Given the description of an element on the screen output the (x, y) to click on. 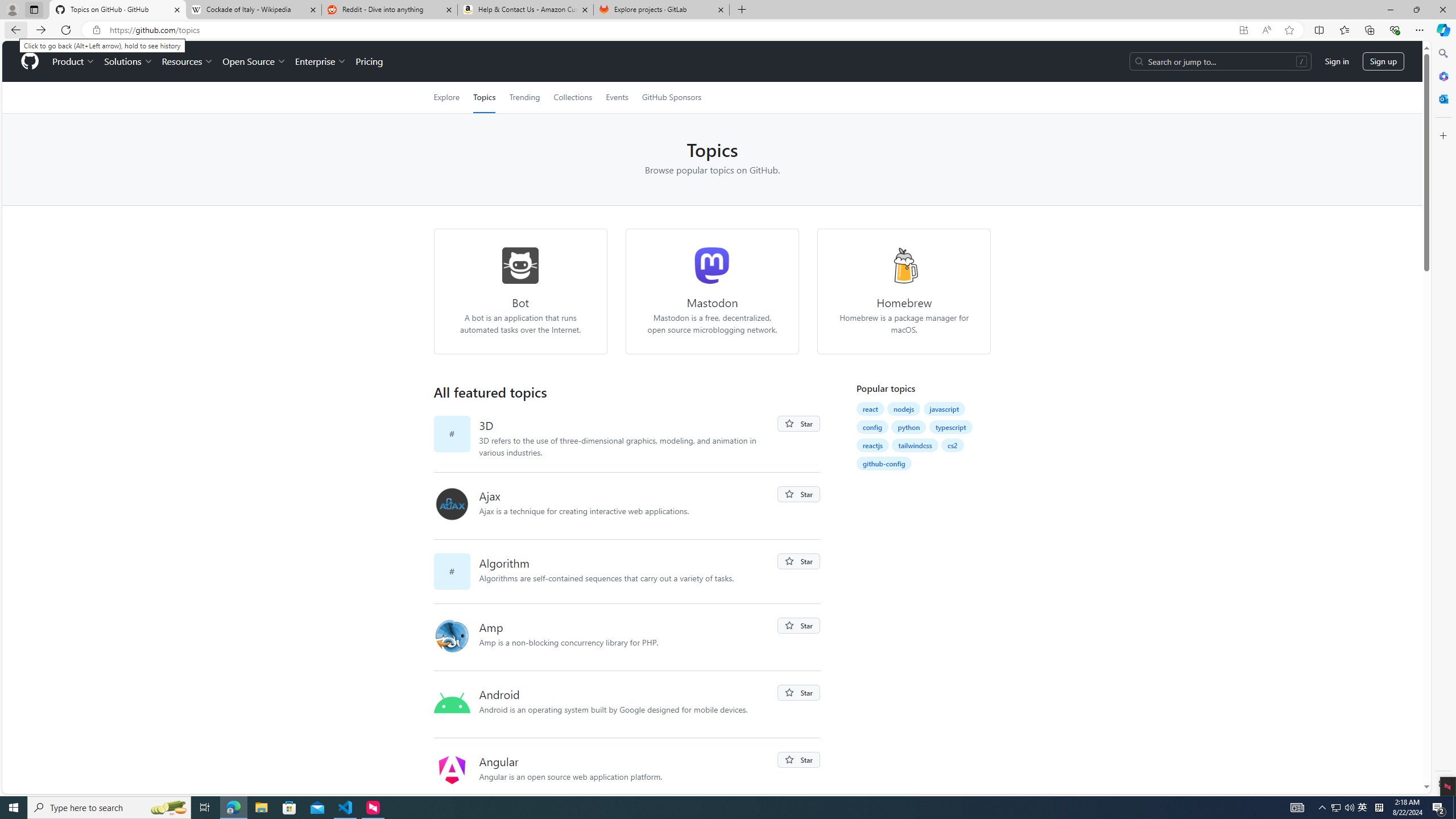
react (870, 408)
config (872, 426)
Amp Amp is a non-blocking concurrency library for PHP. (628, 636)
App available. Install GitHub (1243, 29)
nodejs (903, 408)
reactjs (872, 445)
Resources (187, 60)
amphp (456, 636)
react (869, 409)
bot (520, 265)
